Given the description of an element on the screen output the (x, y) to click on. 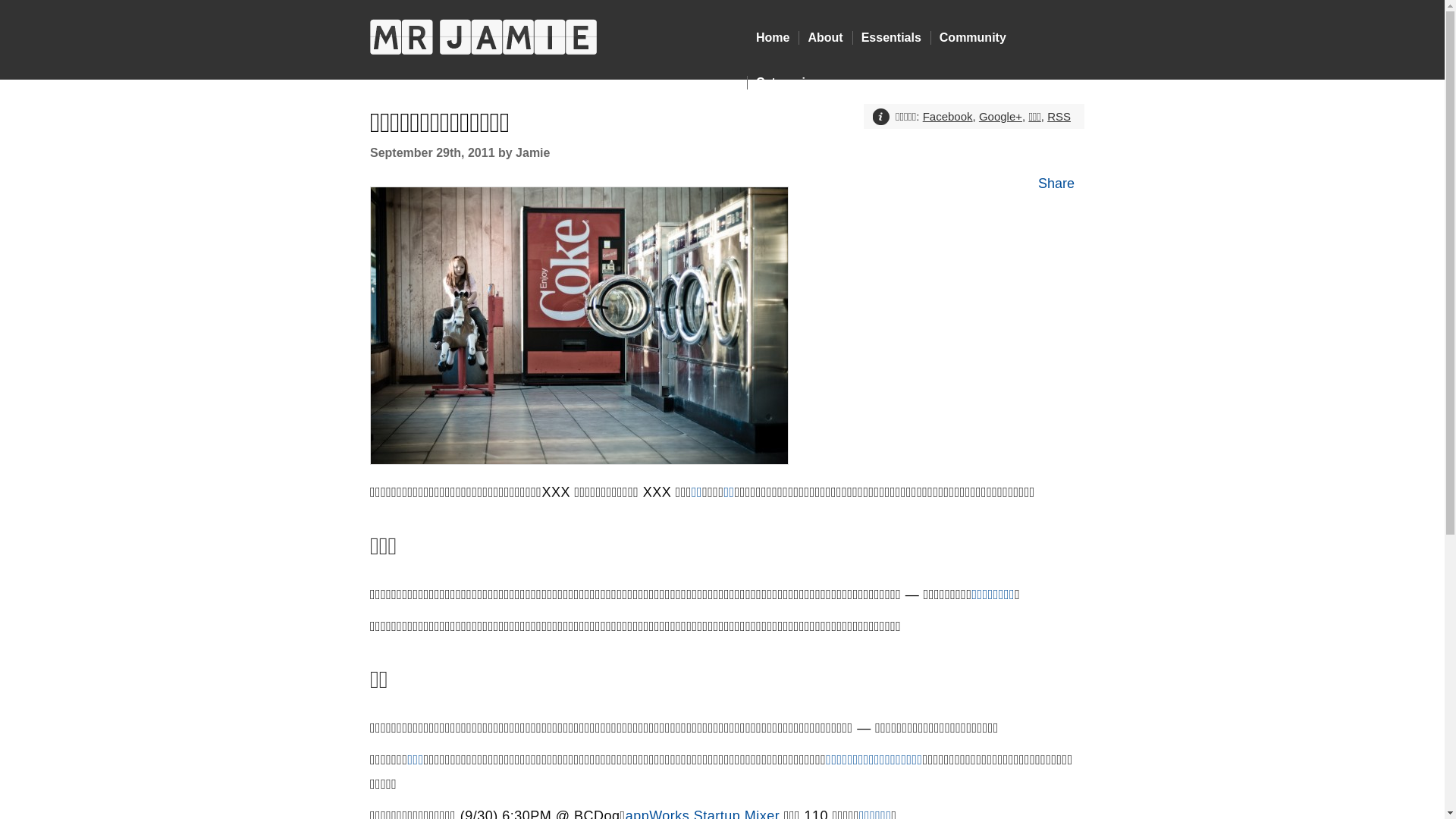
Categories Element type: text (787, 82)
Google+ Element type: text (1000, 115)
Share Element type: text (1056, 183)
About Element type: text (824, 37)
MR JAMIE Element type: hover (483, 36)
Community Element type: text (972, 37)
Facebook Element type: text (947, 115)
Home Element type: text (772, 37)
Laundry Machines Element type: hover (579, 325)
Essentials Element type: text (891, 37)
RSS Element type: text (1058, 115)
